Given the description of an element on the screen output the (x, y) to click on. 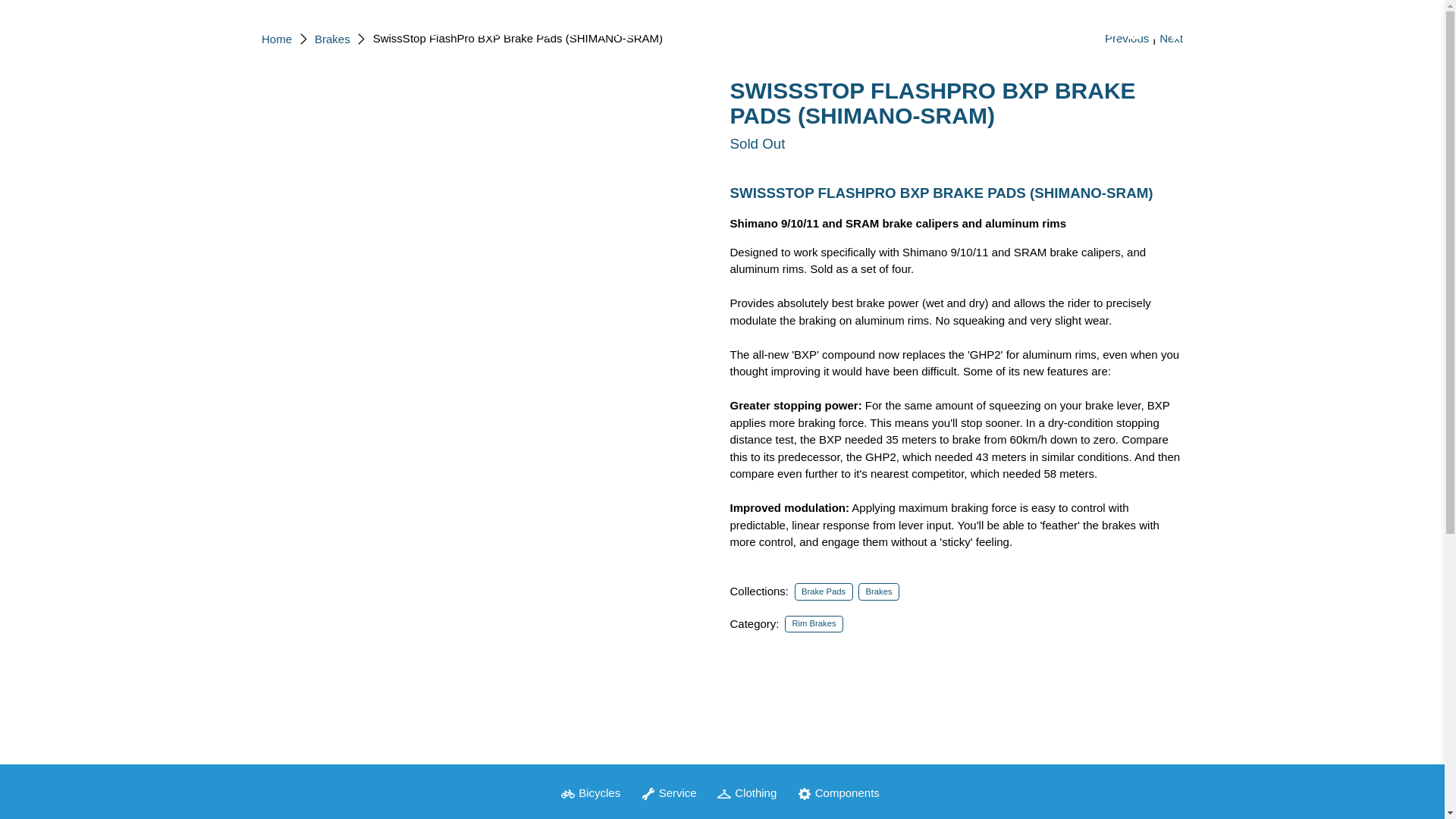
Brands (435, 32)
Indoor Training (841, 32)
Brakes (332, 39)
Brake Pads (823, 591)
Next (1170, 38)
Products tagged Rim Brakes (813, 623)
Brakes (879, 591)
Accessories (735, 32)
Apparel (553, 32)
Clearance (940, 32)
Components (636, 32)
Bikes (493, 32)
Previous (1126, 38)
La Bicicletta Toronto (277, 39)
La Bicicletta Toronto (331, 32)
